Given the description of an element on the screen output the (x, y) to click on. 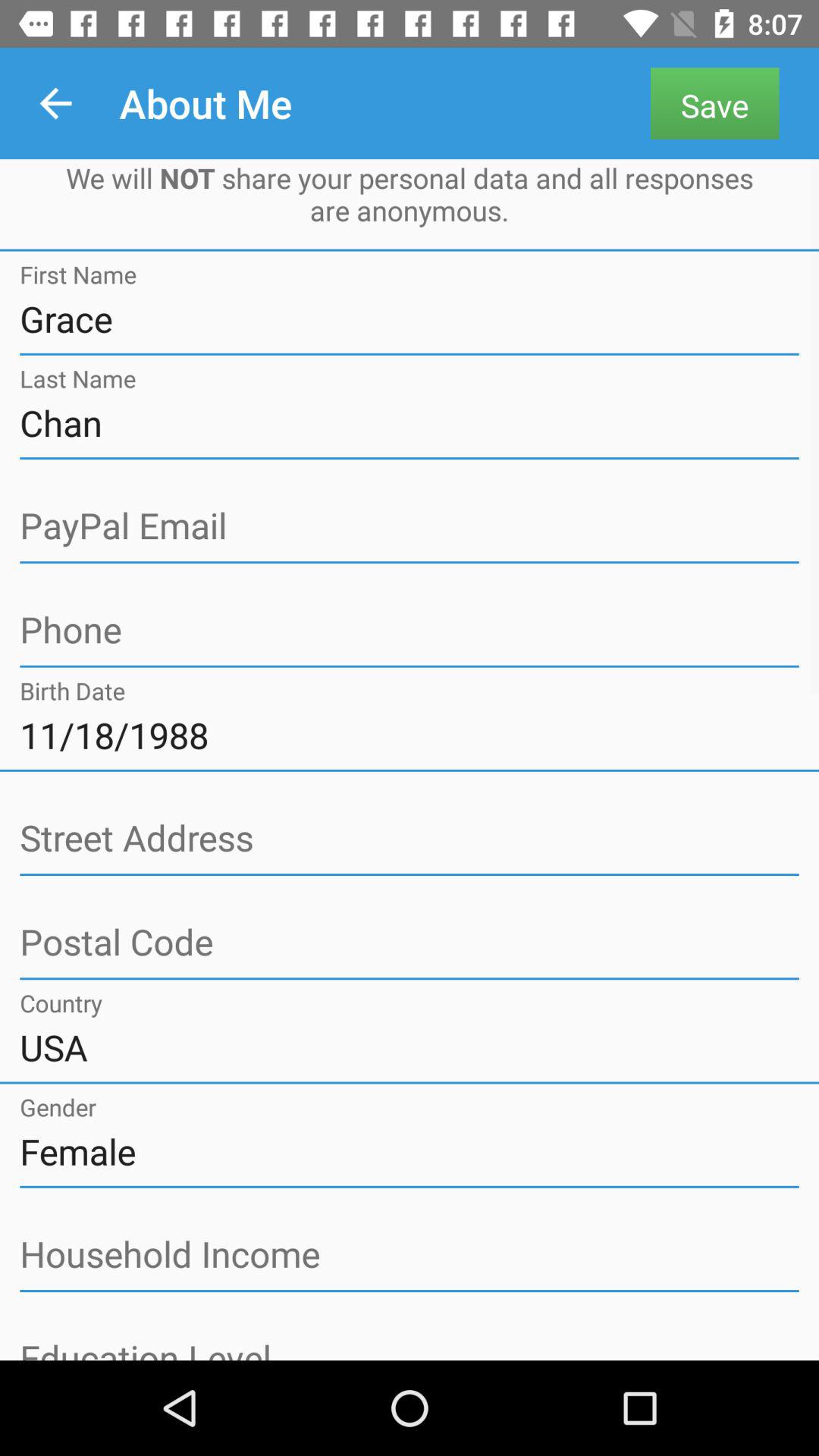
information area (409, 1347)
